Given the description of an element on the screen output the (x, y) to click on. 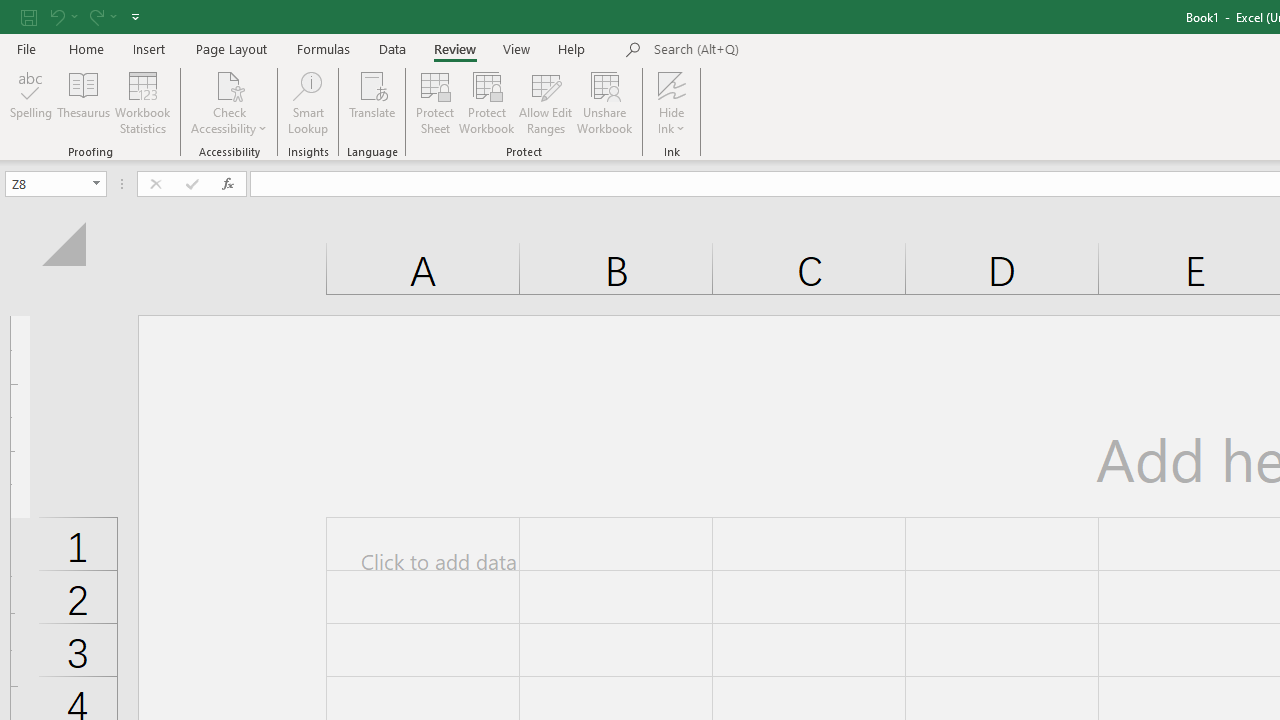
Thesaurus... (83, 102)
Protect Sheet... (434, 102)
Hide Ink (671, 84)
Check Accessibility (229, 84)
Workbook Statistics (142, 102)
